Given the description of an element on the screen output the (x, y) to click on. 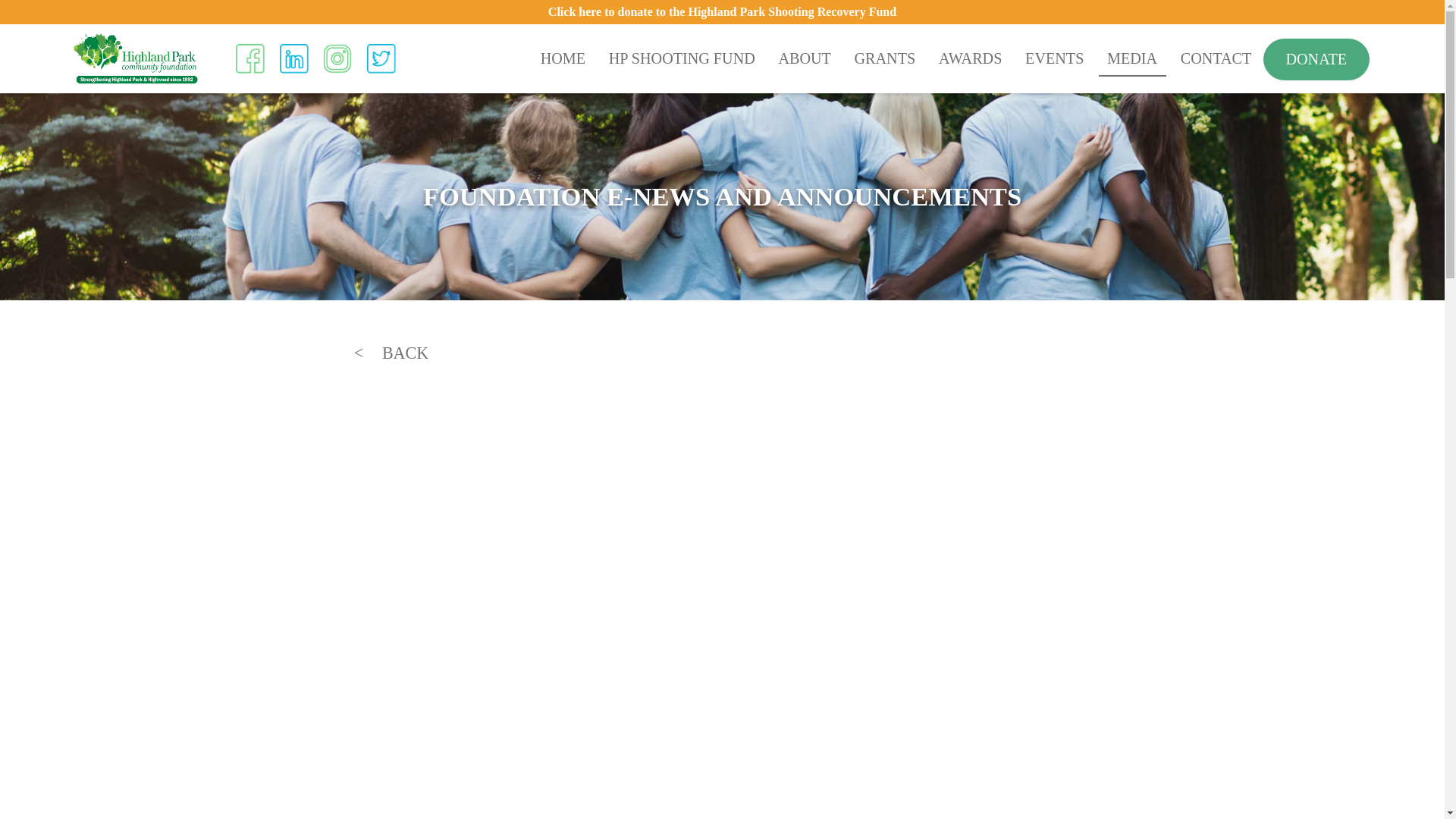
GRANTS (884, 58)
ABOUT (805, 58)
HOME (562, 58)
HP SHOOTING FUND (680, 58)
DONATE (1316, 59)
